Given the description of an element on the screen output the (x, y) to click on. 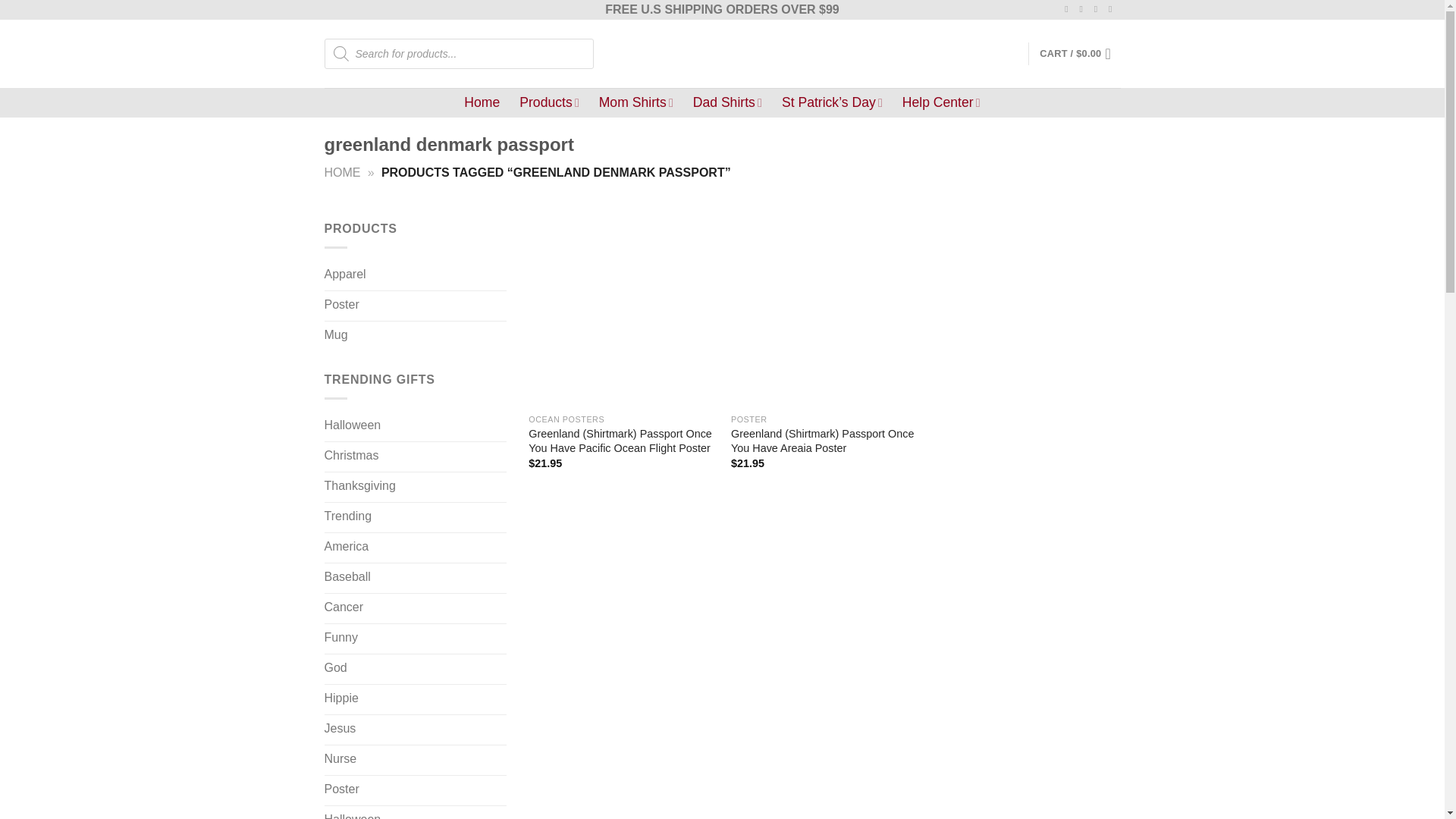
Products (548, 102)
Mom Shirts (635, 102)
Cart (1079, 53)
Home (481, 102)
